Given the description of an element on the screen output the (x, y) to click on. 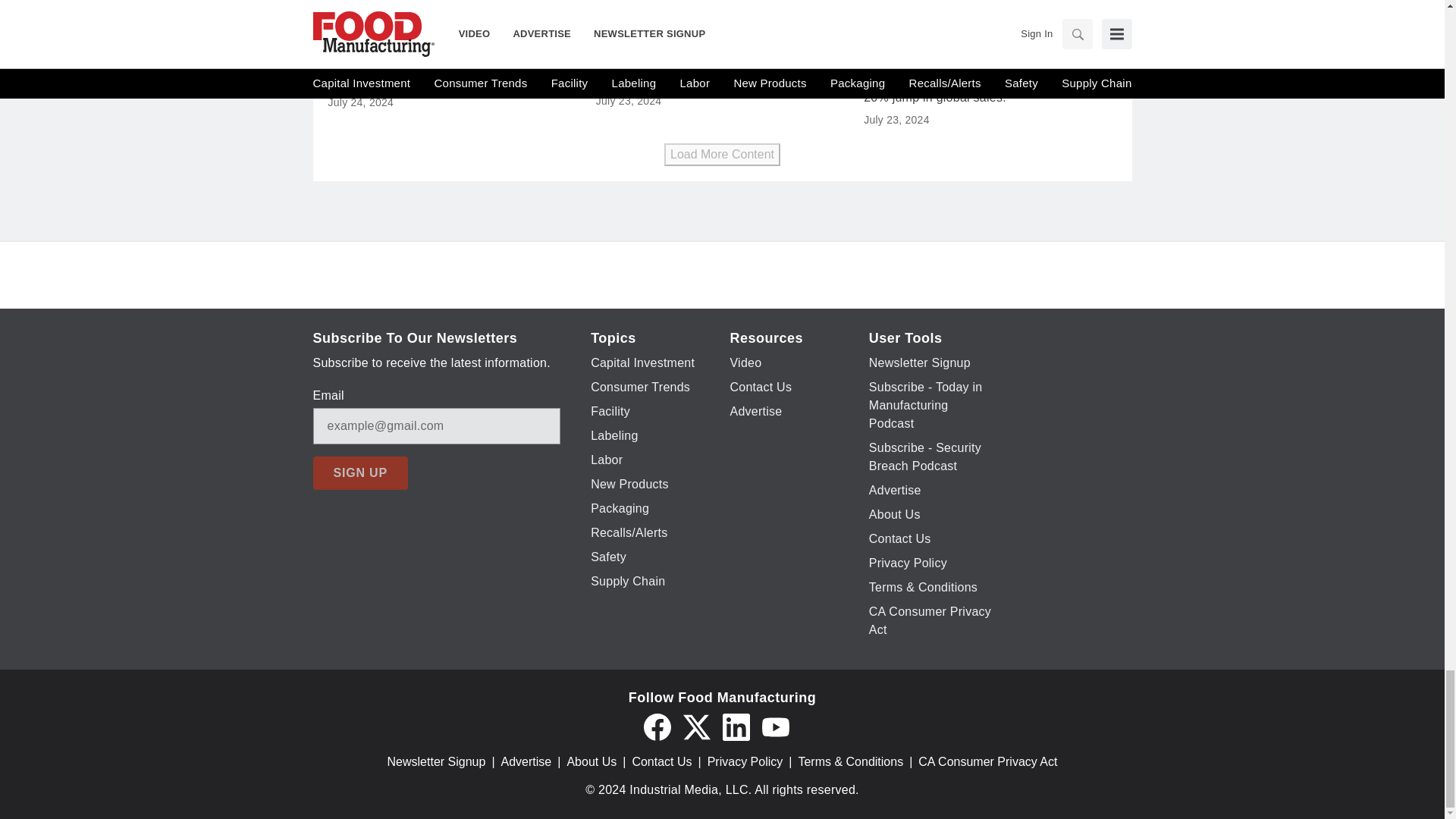
Twitter X icon (696, 727)
LinkedIn icon (735, 727)
Facebook icon (656, 727)
YouTube icon (775, 727)
